Given the description of an element on the screen output the (x, y) to click on. 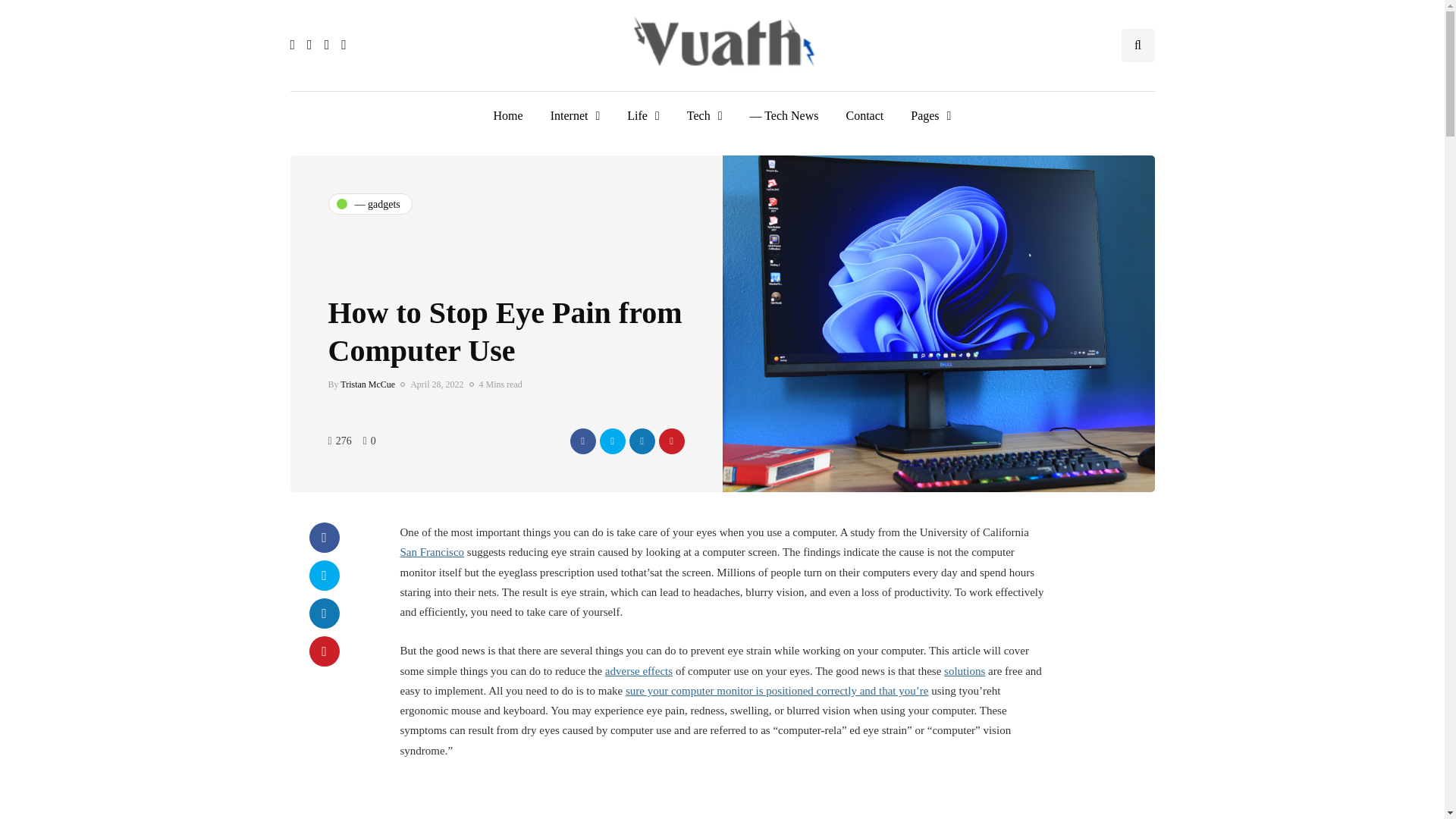
Pin this (323, 651)
Home (508, 115)
Share with Facebook (582, 440)
Tech (704, 115)
Tweet this (323, 575)
Pin this (671, 440)
Share with Facebook (323, 537)
Contact (863, 115)
Share with LinkedIn (641, 440)
Posts by Tristan McCue (367, 384)
Pages (929, 115)
Life (642, 115)
Tweet this (611, 440)
Internet (575, 115)
Share with LinkedIn (323, 613)
